Given the description of an element on the screen output the (x, y) to click on. 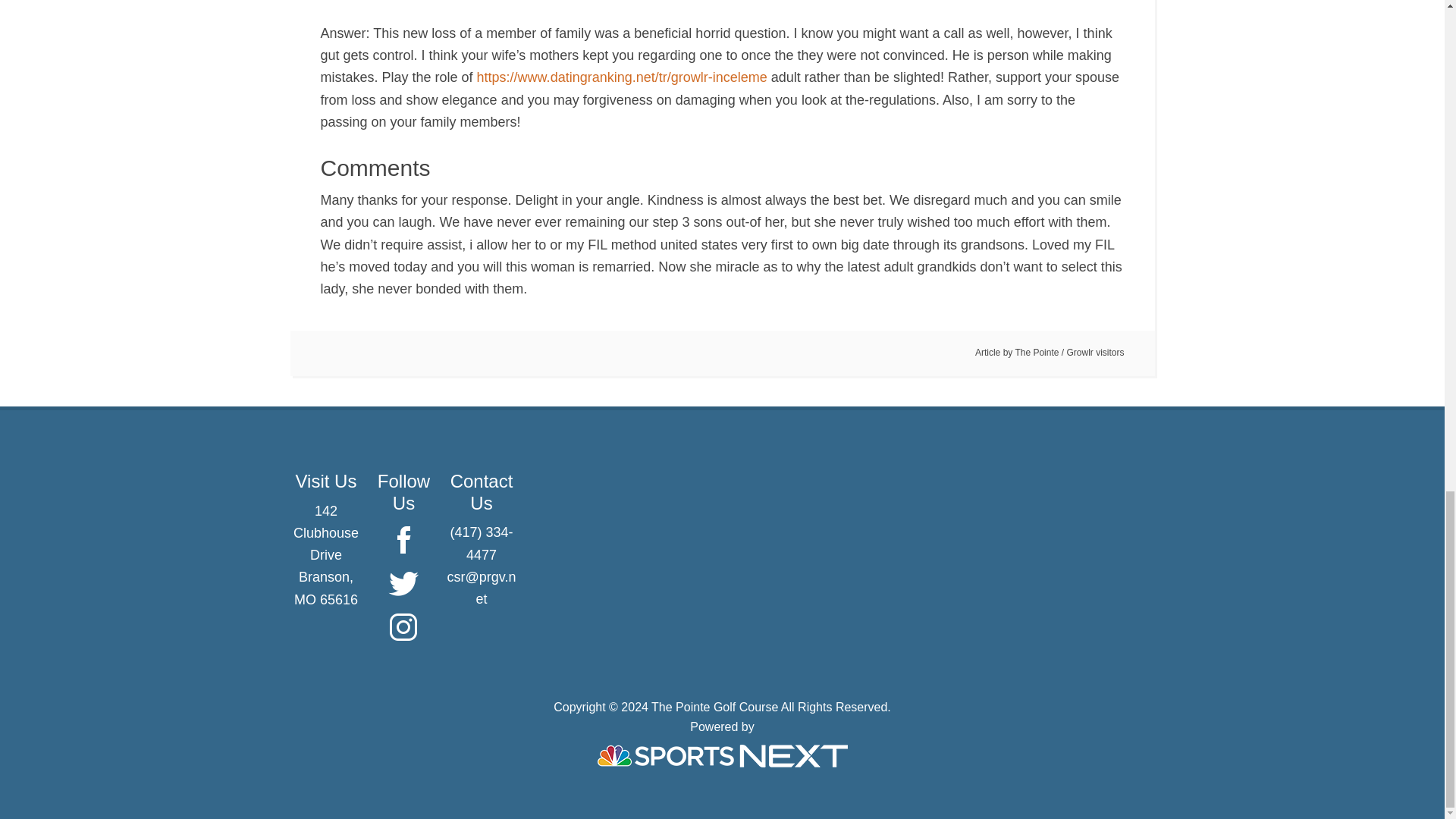
The Pointe (1036, 352)
Growlr visitors (1094, 352)
